Given the description of an element on the screen output the (x, y) to click on. 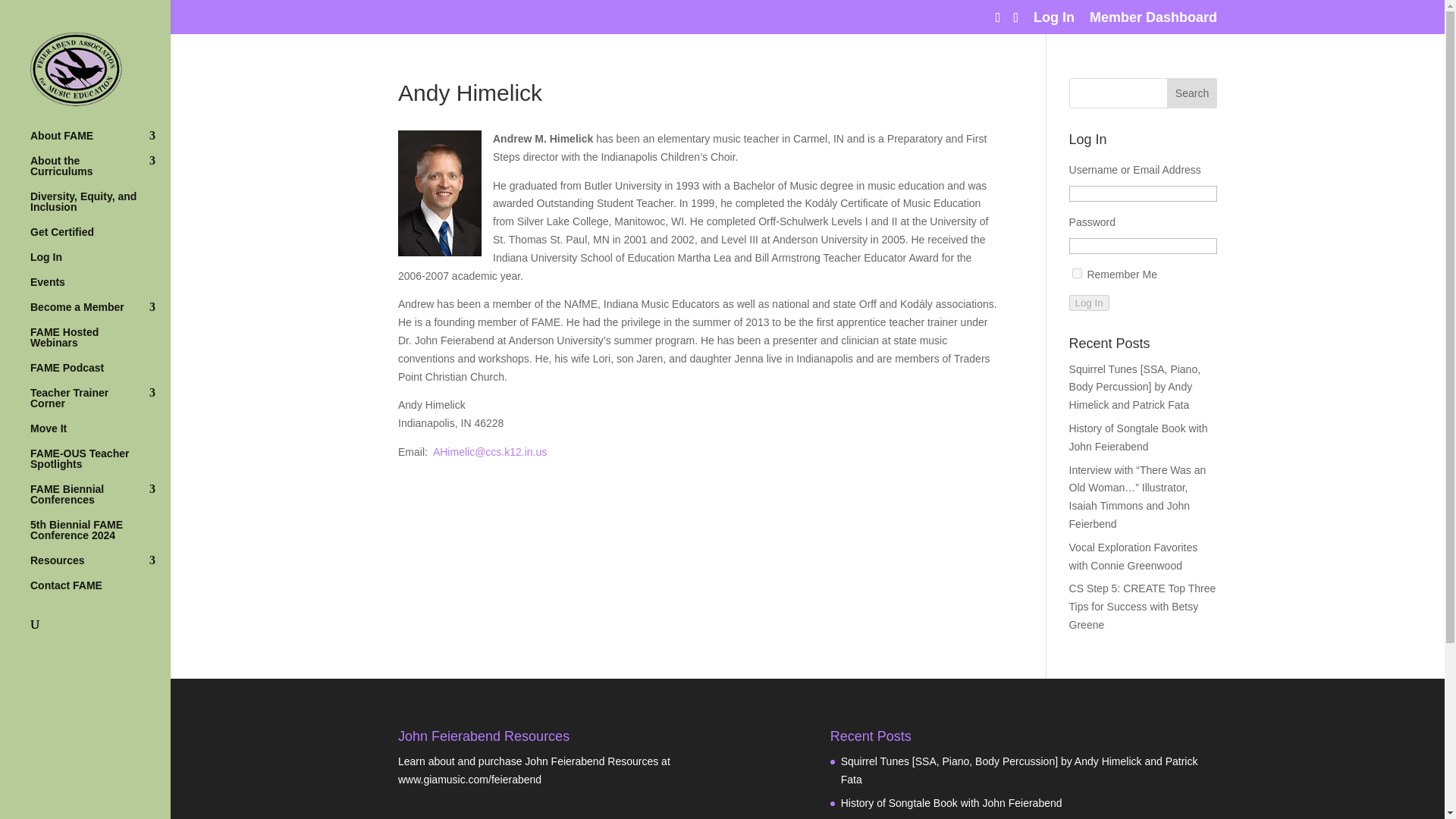
FAME Biennial Conferences (100, 501)
Move It (100, 435)
Events (100, 289)
Get Certified (100, 238)
Search (1192, 92)
About the Curriculums (100, 172)
FAME-OUS Teacher Spotlights (100, 465)
Log In (100, 263)
FAME Podcast (100, 374)
Teacher Trainer Corner (100, 405)
